Given the description of an element on the screen output the (x, y) to click on. 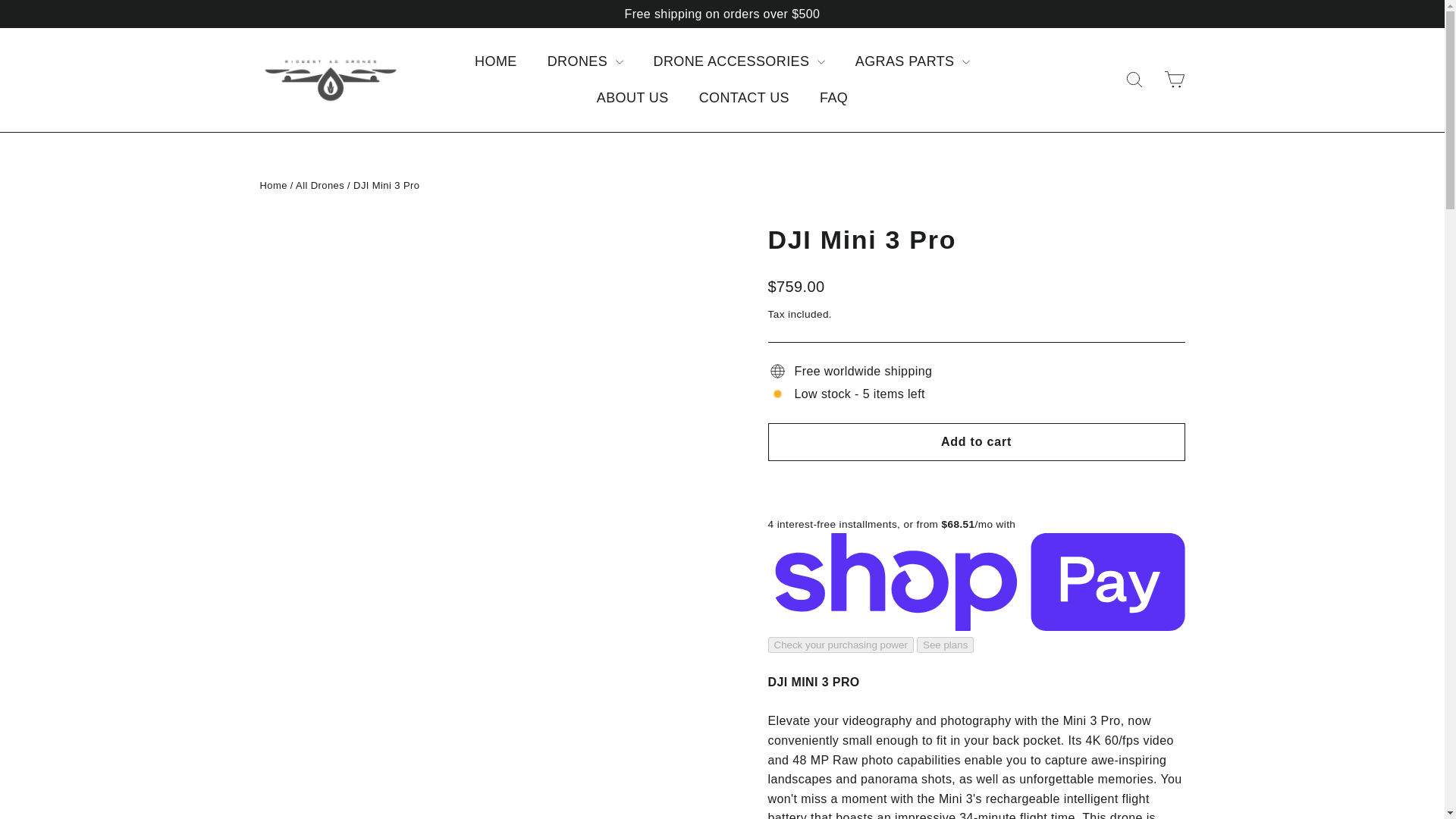
CONTACT US (744, 98)
DRONES (585, 61)
AGRAS PARTS (912, 61)
Back to the frontpage (272, 184)
DRONE ACCESSORIES (739, 61)
FAQ (834, 98)
Search (1134, 79)
ABOUT US (632, 98)
HOME (496, 61)
